Given the description of an element on the screen output the (x, y) to click on. 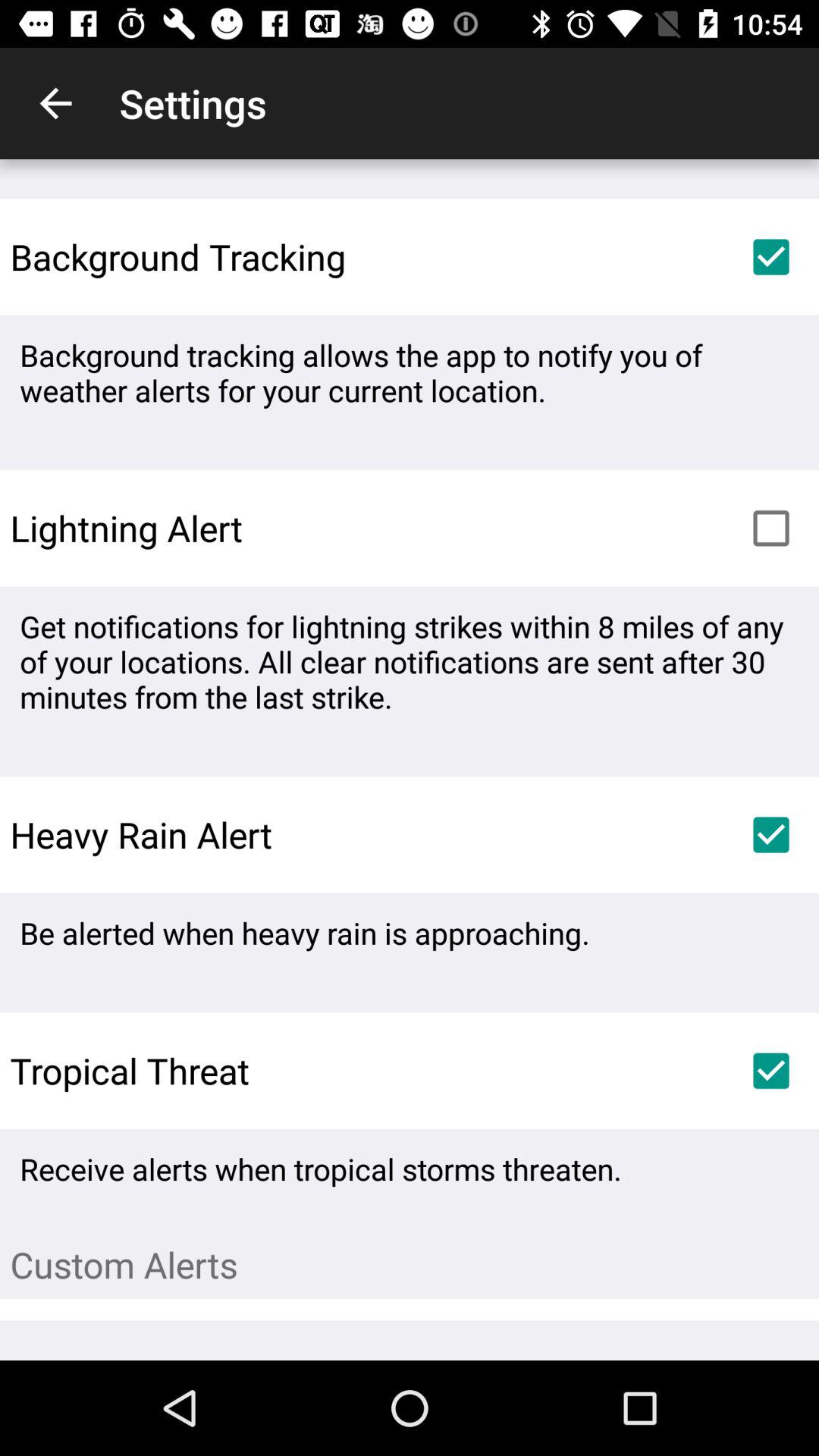
open the item above tropical threat (304, 932)
